Given the description of an element on the screen output the (x, y) to click on. 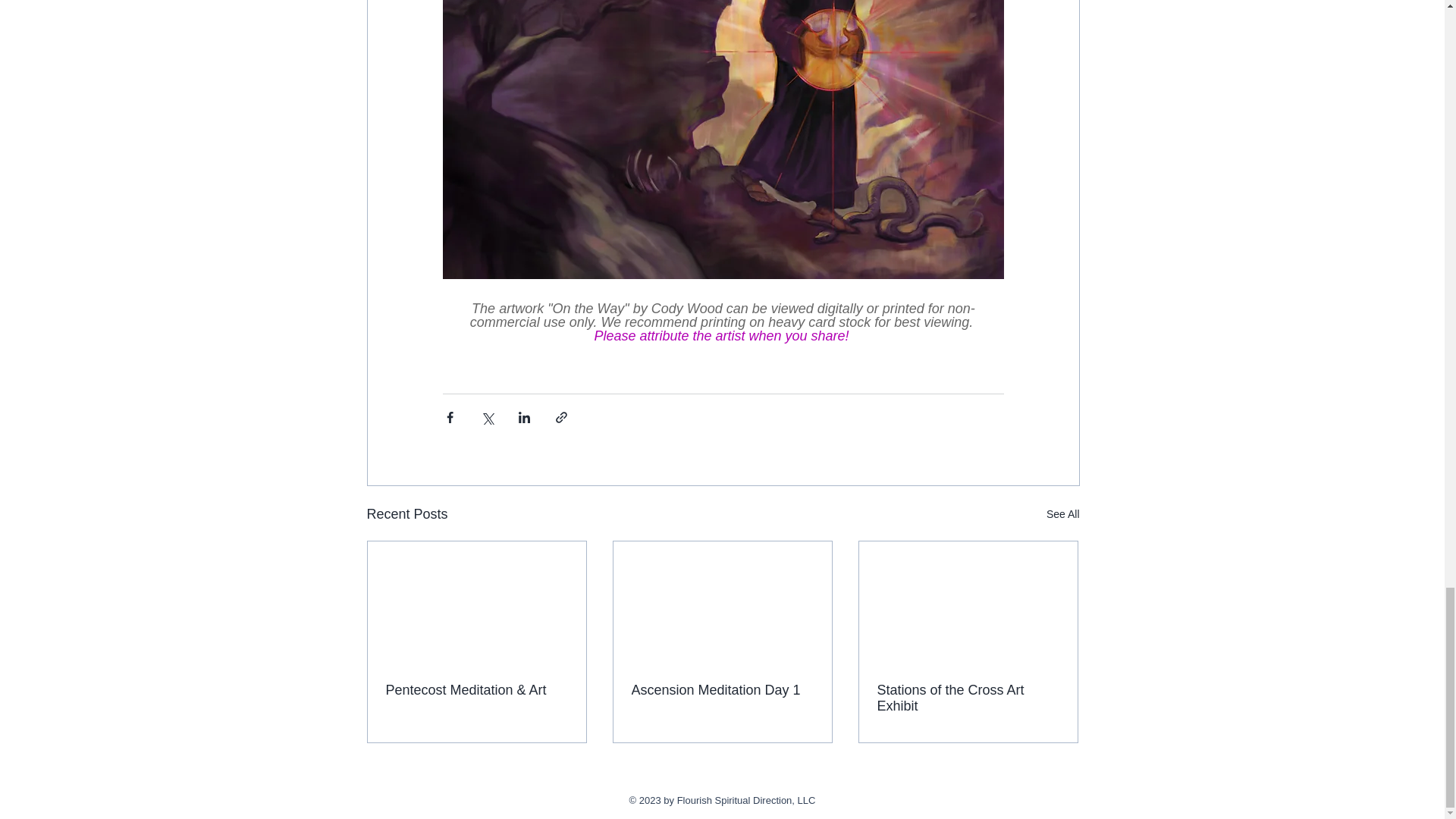
Ascension Meditation Day 1 (721, 690)
See All (1063, 514)
Stations of the Cross Art Exhibit (967, 698)
